Given the description of an element on the screen output the (x, y) to click on. 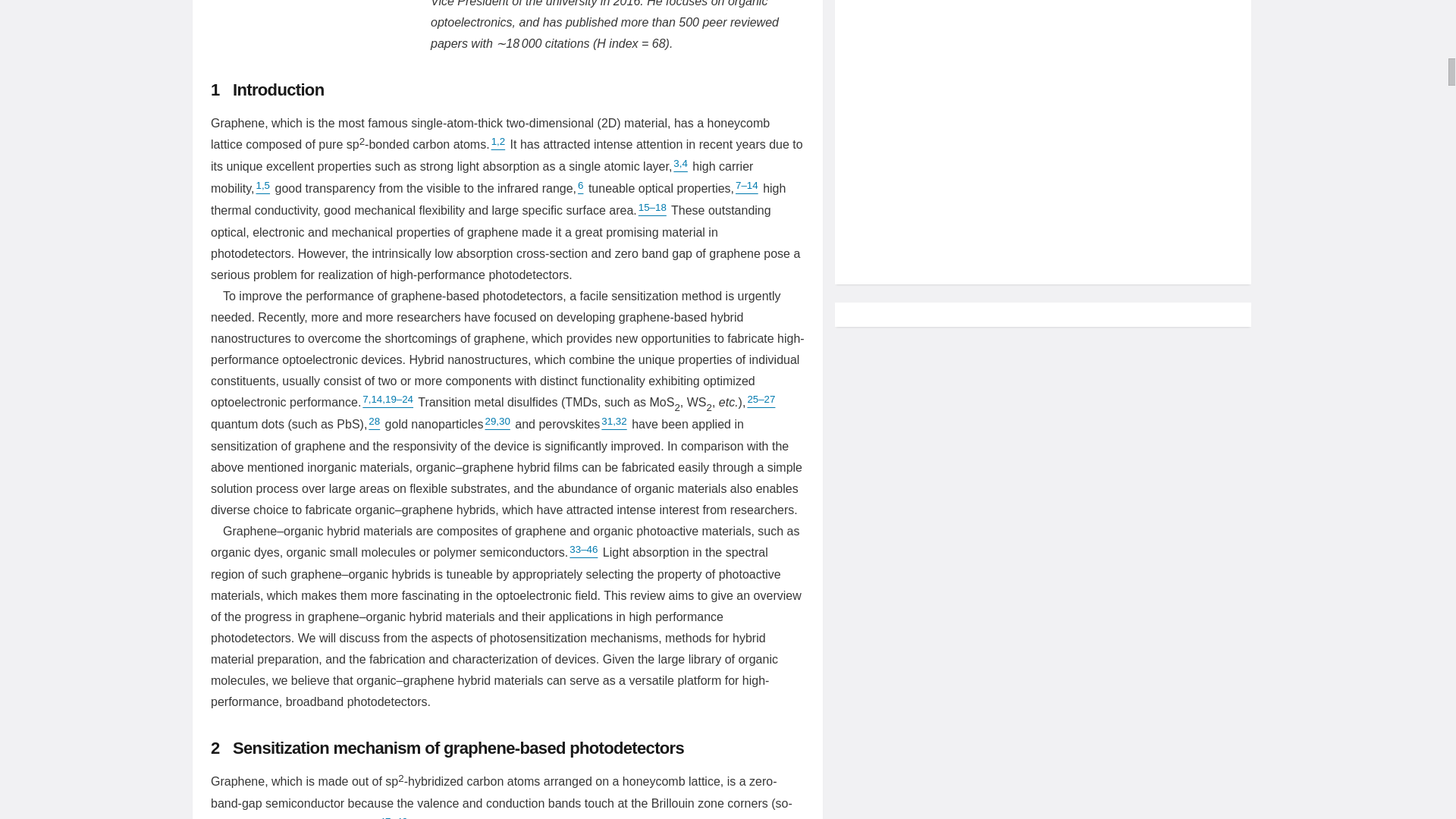
1,2 (497, 144)
3,4 (679, 166)
1,5 (263, 188)
